Given the description of an element on the screen output the (x, y) to click on. 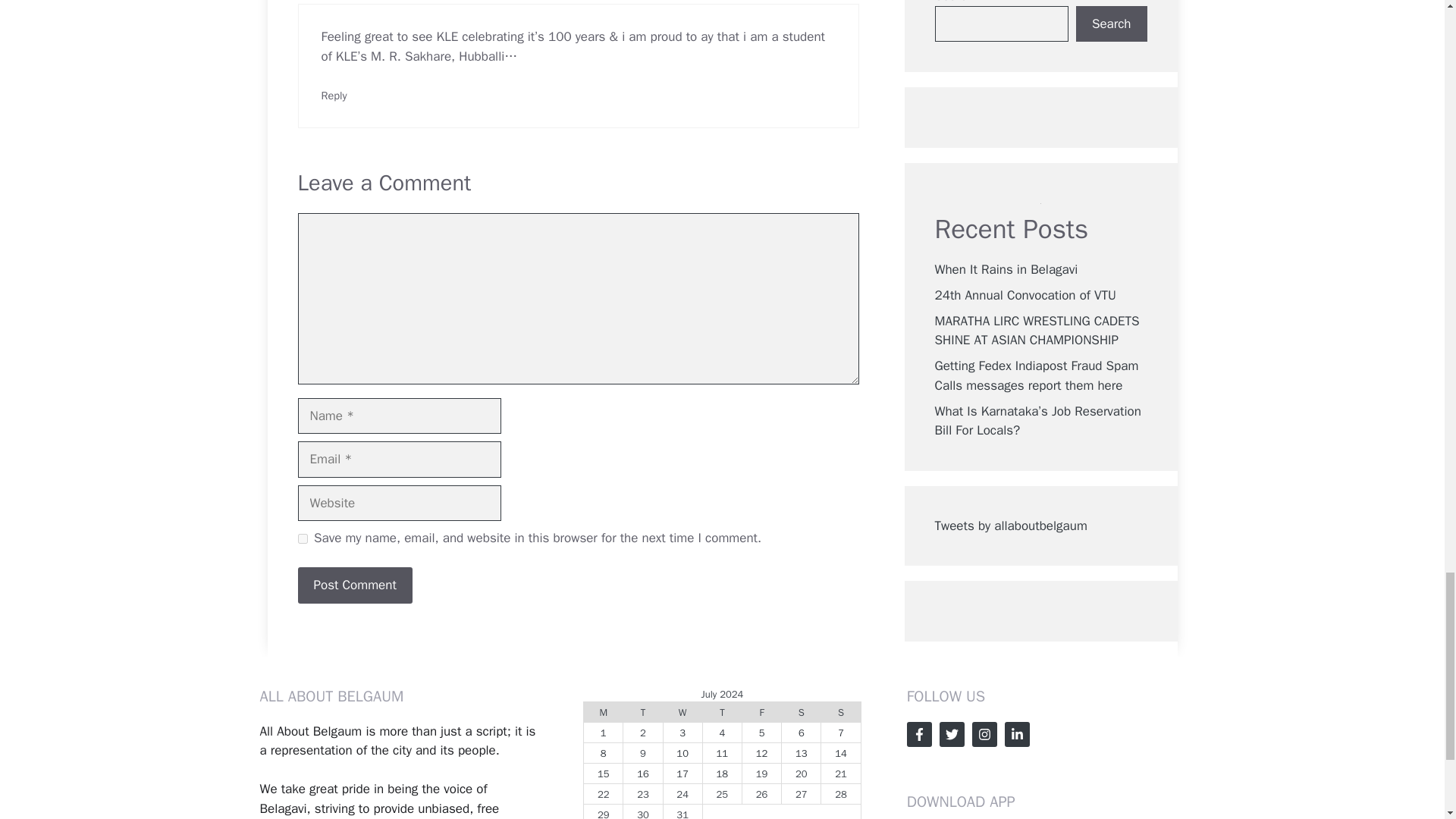
Reply (334, 95)
Monday (603, 711)
Post Comment (354, 585)
Thursday (721, 711)
Tuesday (642, 711)
Wednesday (681, 711)
Friday (760, 711)
Saturday (801, 711)
yes (302, 538)
Post Comment (354, 585)
